Given the description of an element on the screen output the (x, y) to click on. 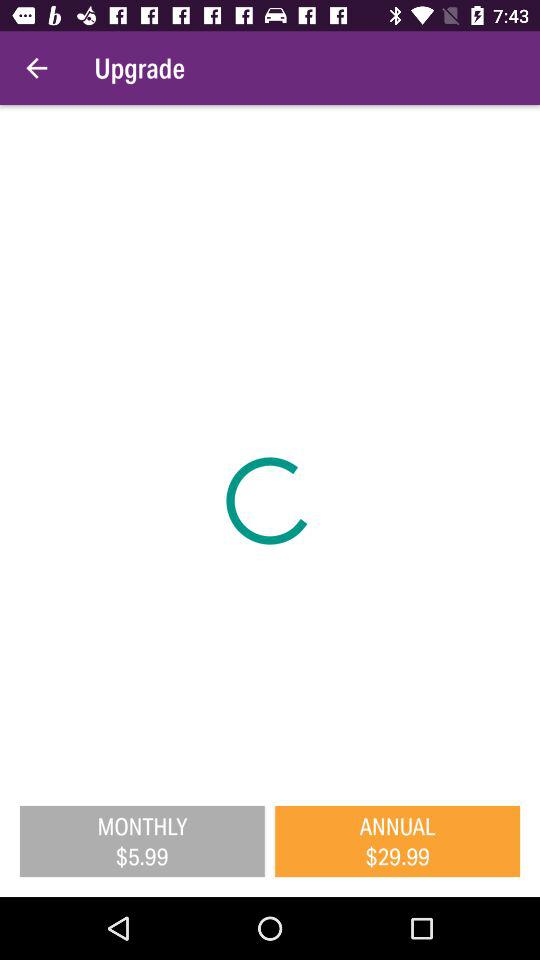
swipe until annual
$29.99 (397, 841)
